Given the description of an element on the screen output the (x, y) to click on. 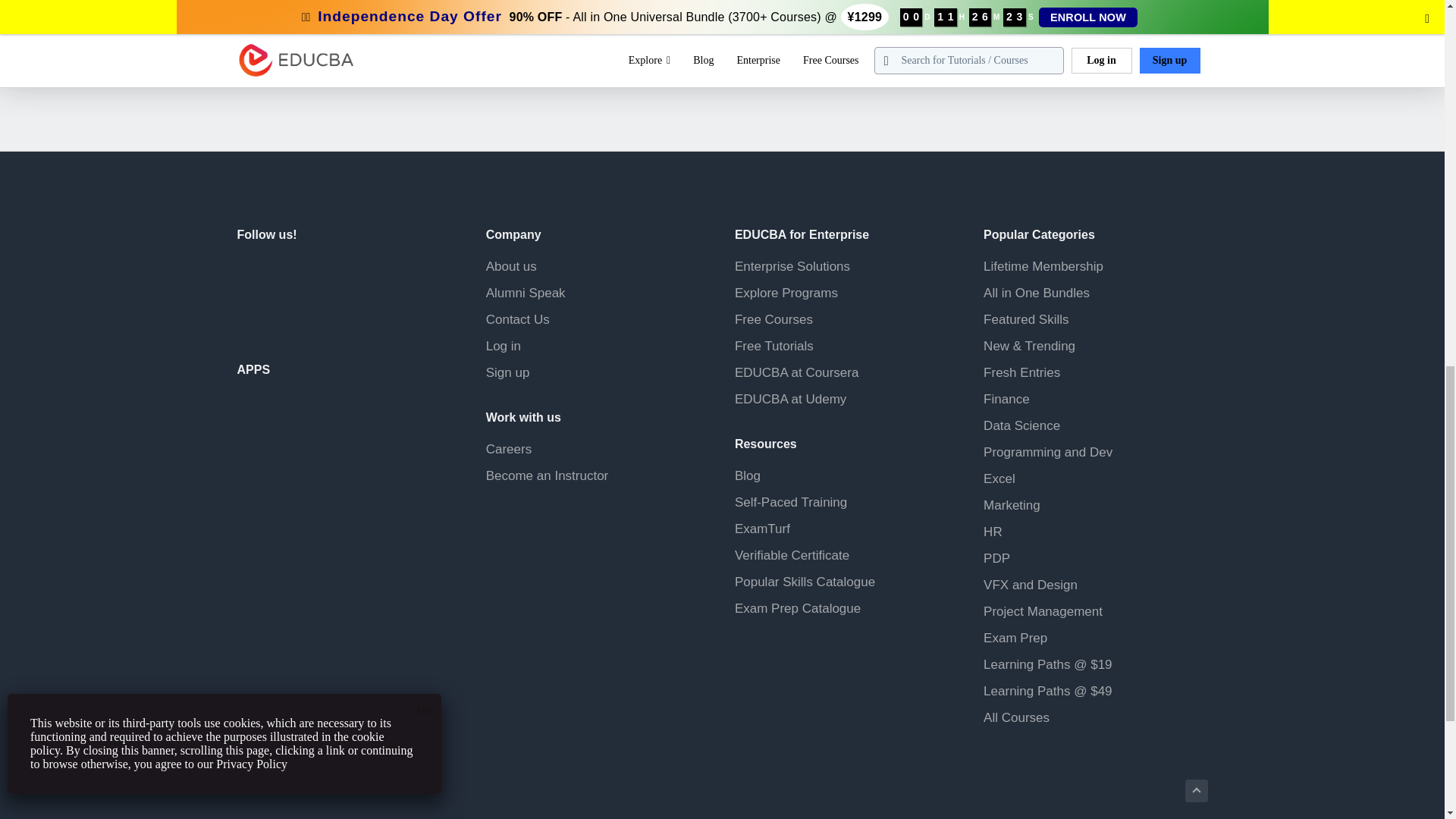
EDUCBA Twitter (287, 275)
EDUCBA Facebook (250, 275)
Alumni Speak (526, 292)
EDUCBA Youtube (250, 313)
EDUCBA Android App (311, 423)
Sign up (507, 372)
EDUCBA LinkedIN (322, 275)
EDUCBA Instagram (358, 275)
EDUCBA iOS App (311, 488)
About us (511, 266)
